Given the description of an element on the screen output the (x, y) to click on. 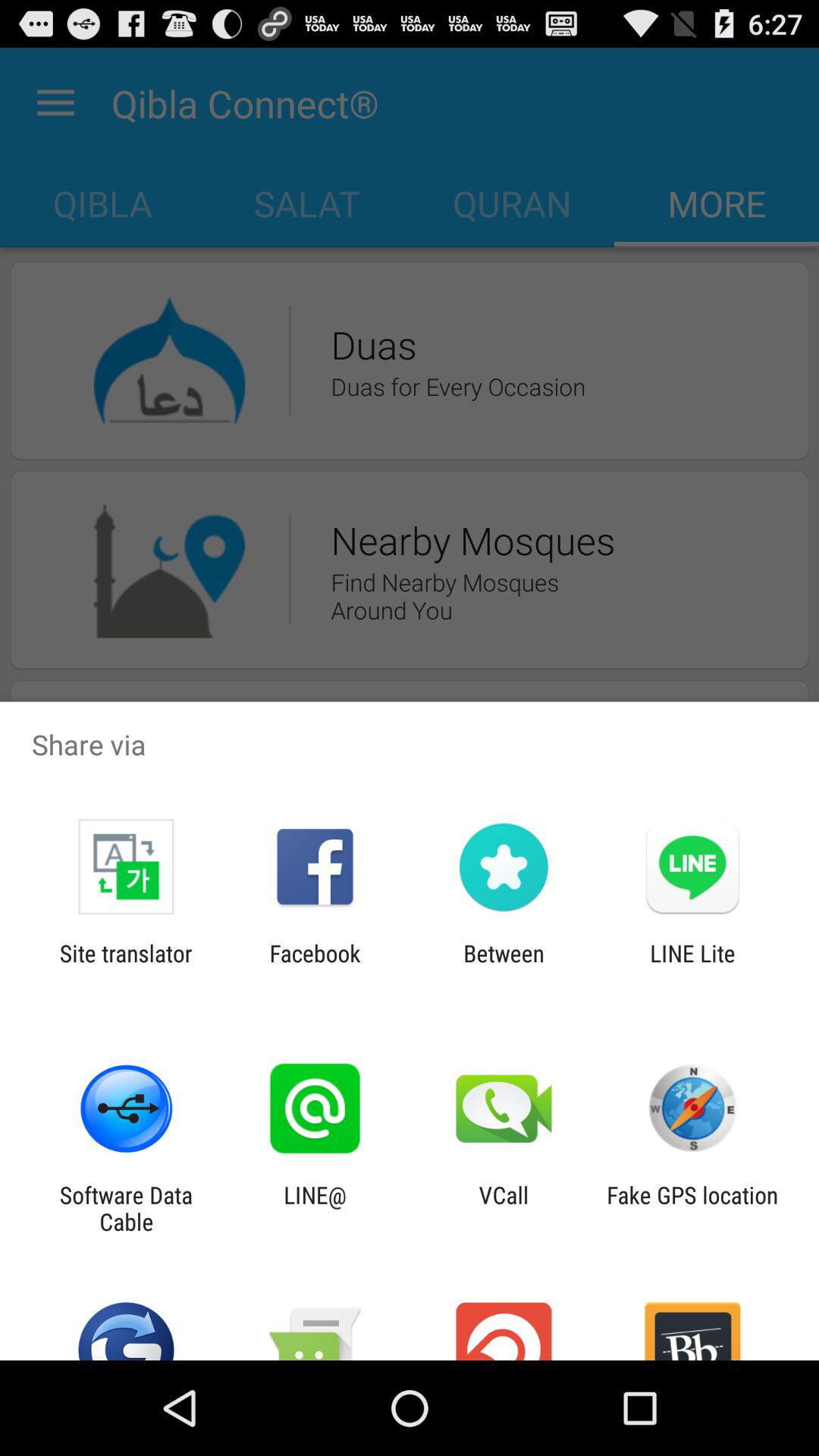
turn off item to the right of vcall item (692, 1208)
